Given the description of an element on the screen output the (x, y) to click on. 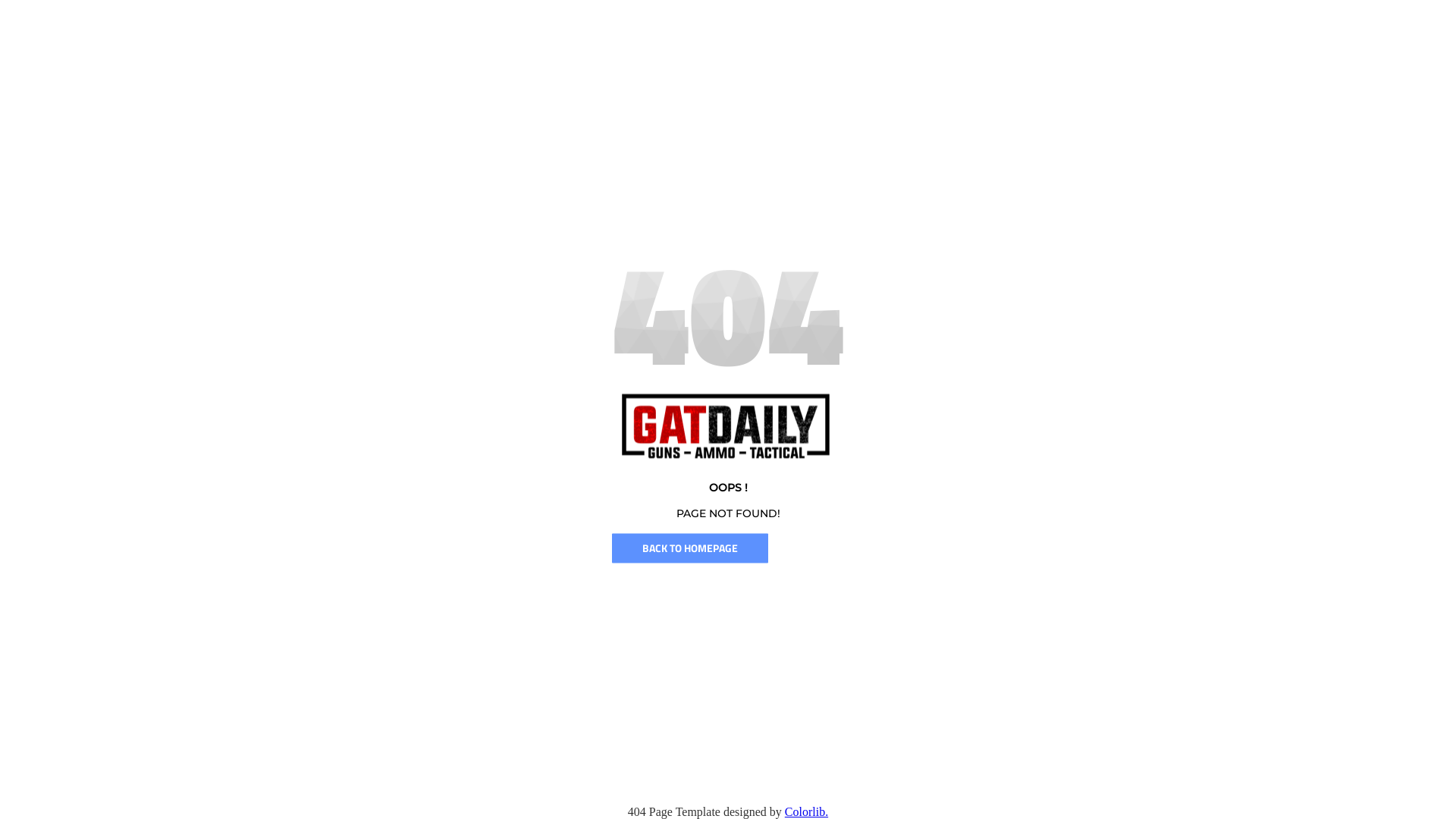
Colorlib. Element type: text (806, 811)
BACK TO HOMEPAGE Element type: text (689, 548)
